Given the description of an element on the screen output the (x, y) to click on. 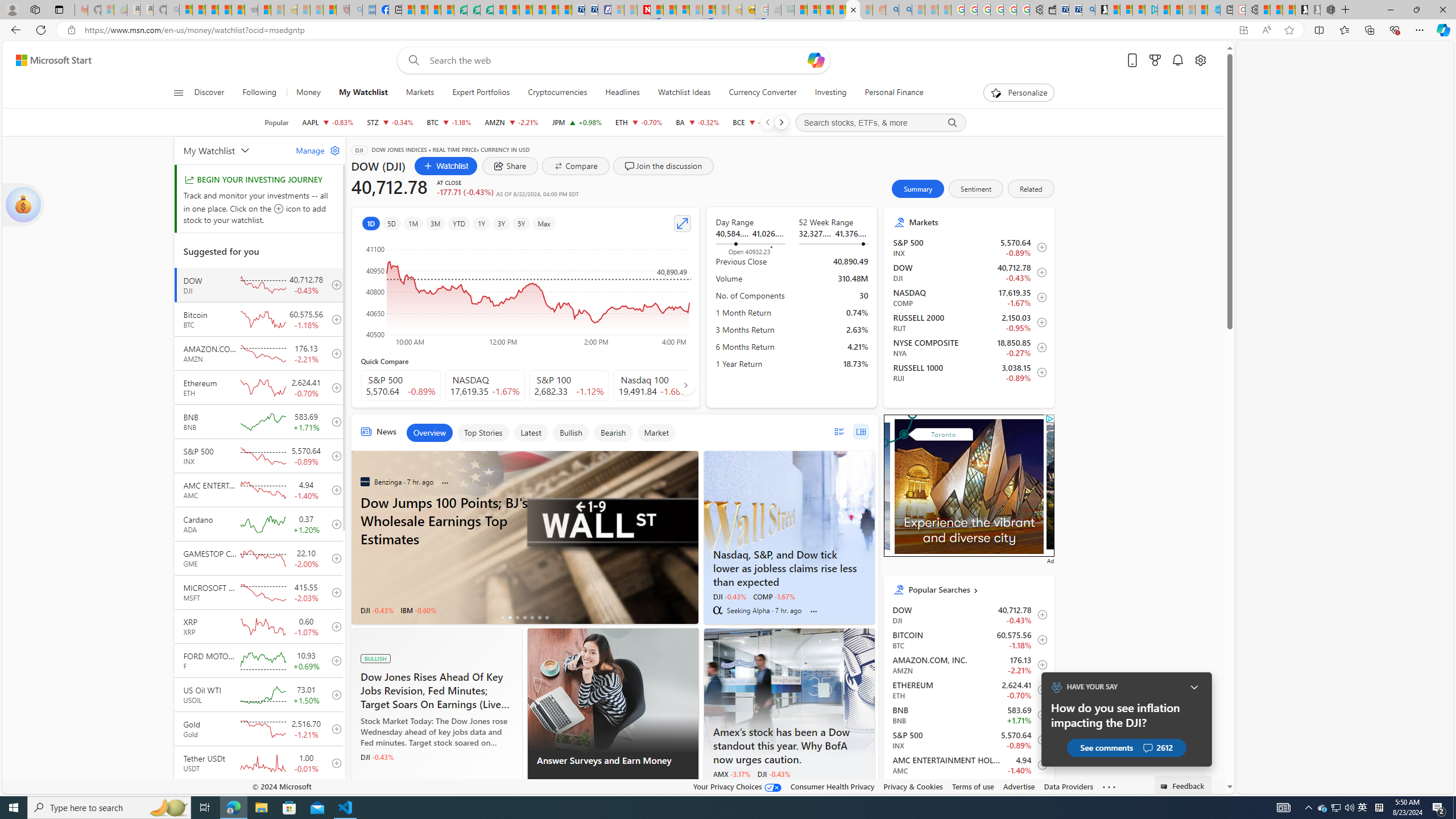
Next (780, 122)
AdChoices (689, 789)
Popular (276, 121)
Compare (575, 166)
Data Providers (1068, 785)
BNB BNB increase 583.69 +10.00 +1.71% itemundefined (968, 714)
MarketWatch (716, 786)
Local - MSN (329, 9)
